Given the description of an element on the screen output the (x, y) to click on. 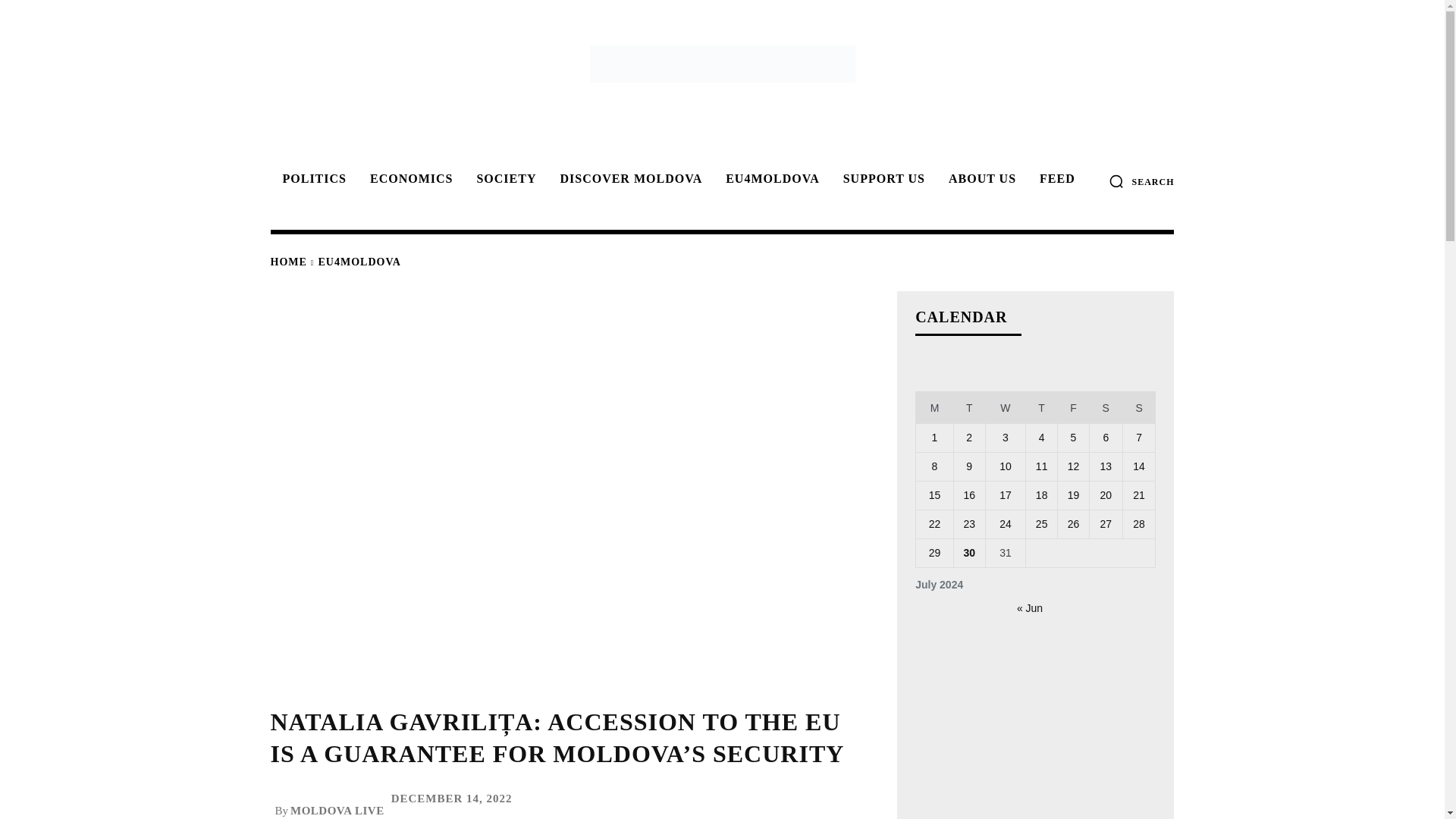
EU4MOLDOVA (359, 261)
DISCOVER MOLDOVA (628, 178)
FEED (1055, 178)
MOLDOVA LIVE (336, 810)
SEARCH (1140, 181)
SUPPORT US (882, 178)
POLITICS (311, 178)
ECONOMICS (409, 178)
HOME (287, 261)
View all posts in EU4MOLDOVA (359, 261)
ABOUT US (979, 178)
EU4MOLDOVA (770, 178)
SOCIETY (503, 178)
